Given the description of an element on the screen output the (x, y) to click on. 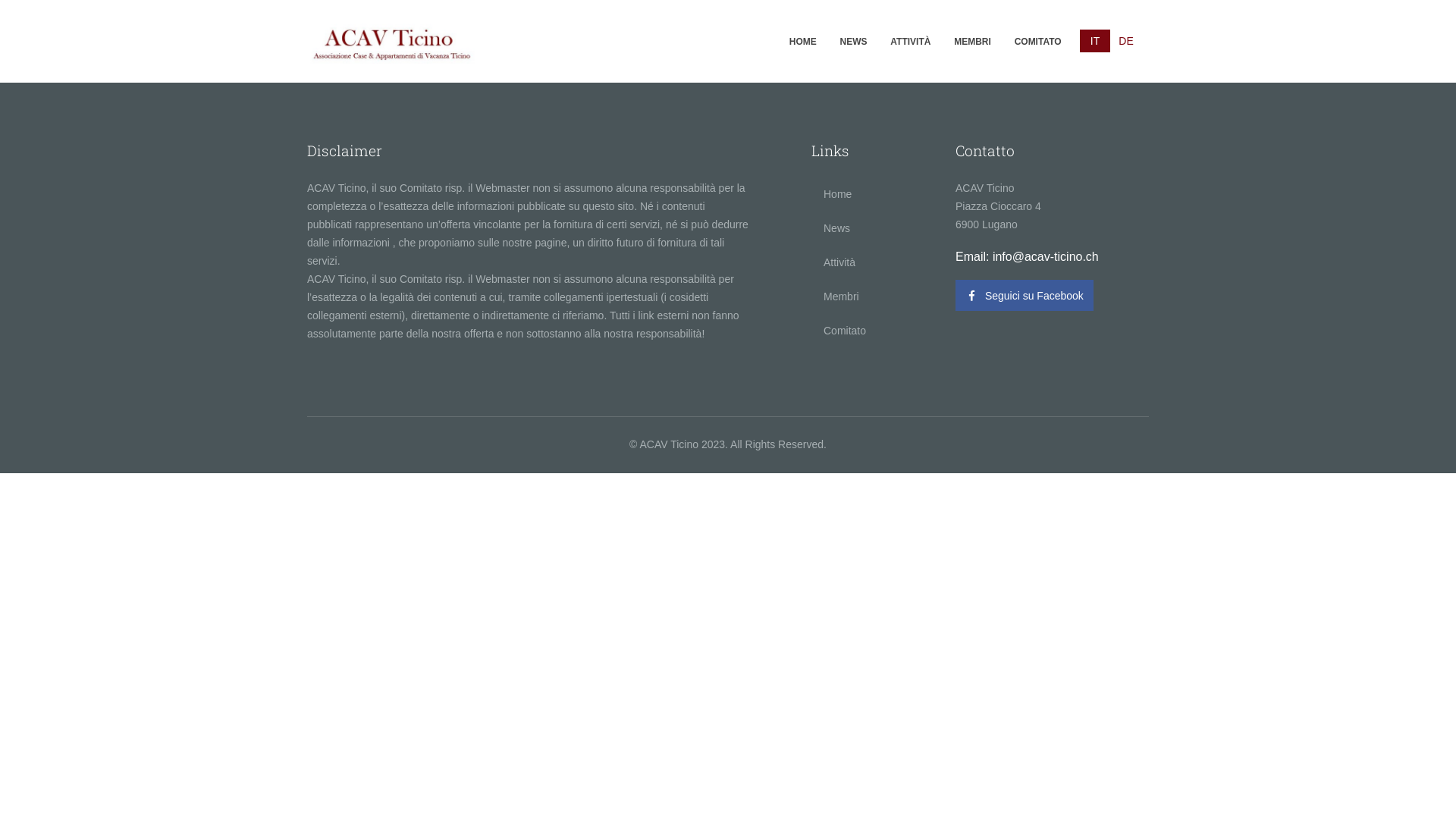
MEMBRI Element type: text (972, 41)
News Element type: text (871, 228)
Home Element type: text (871, 193)
Comitato Element type: text (871, 330)
Membri Element type: text (871, 296)
Seguici su Facebook Element type: text (1024, 294)
NEWS Element type: text (853, 41)
info@acav-ticino.ch Element type: text (1045, 256)
COMITATO Element type: text (1037, 41)
HOME Element type: text (802, 41)
IT Element type: text (1094, 40)
DE Element type: text (1125, 40)
